Given the description of an element on the screen output the (x, y) to click on. 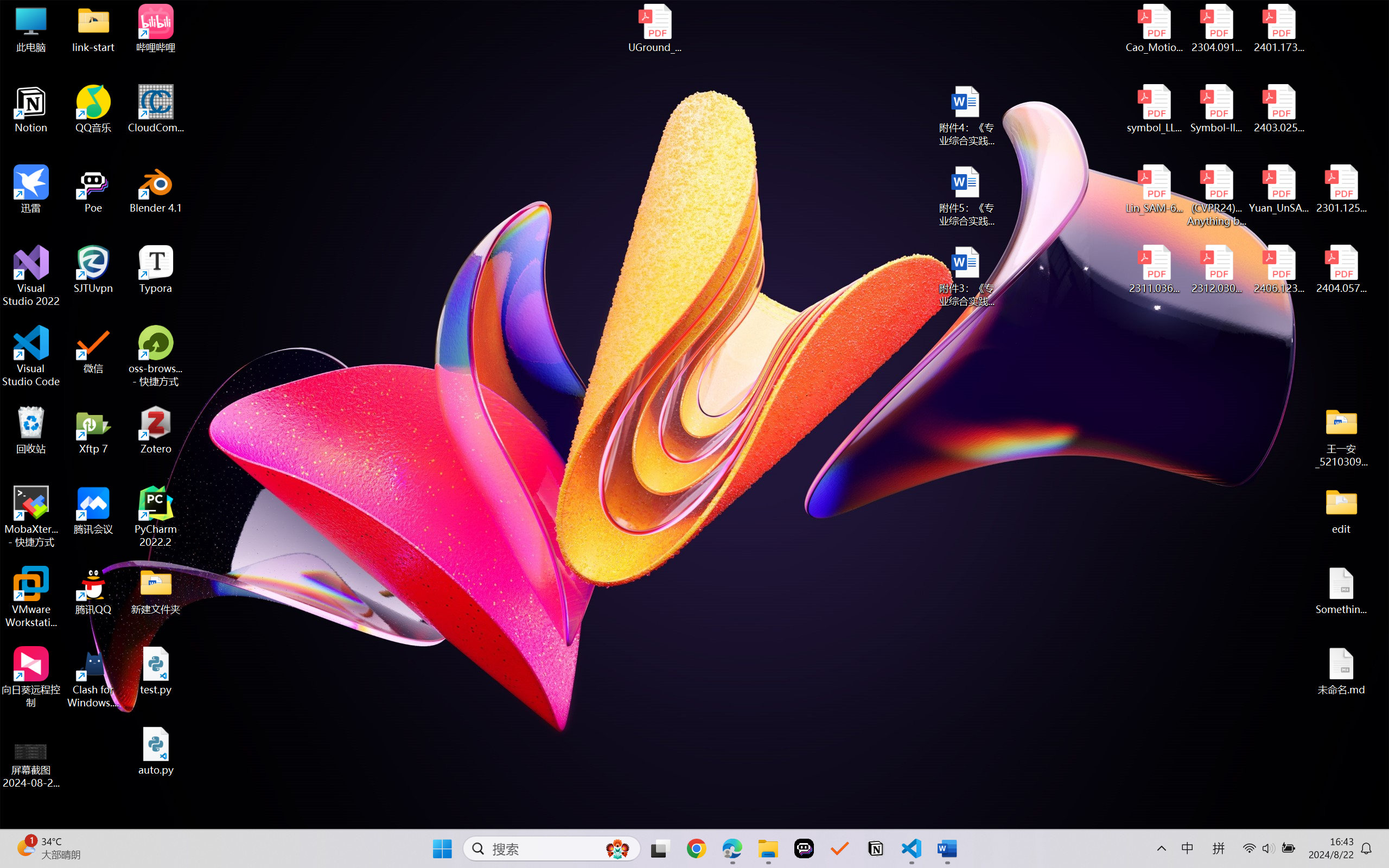
Visual Studio Code (31, 355)
UGround_paper.pdf (654, 28)
2311.03658v2.pdf (1154, 269)
2301.12597v3.pdf (1340, 189)
Xftp 7 (93, 430)
2403.02502v1.pdf (1278, 109)
